Given the description of an element on the screen output the (x, y) to click on. 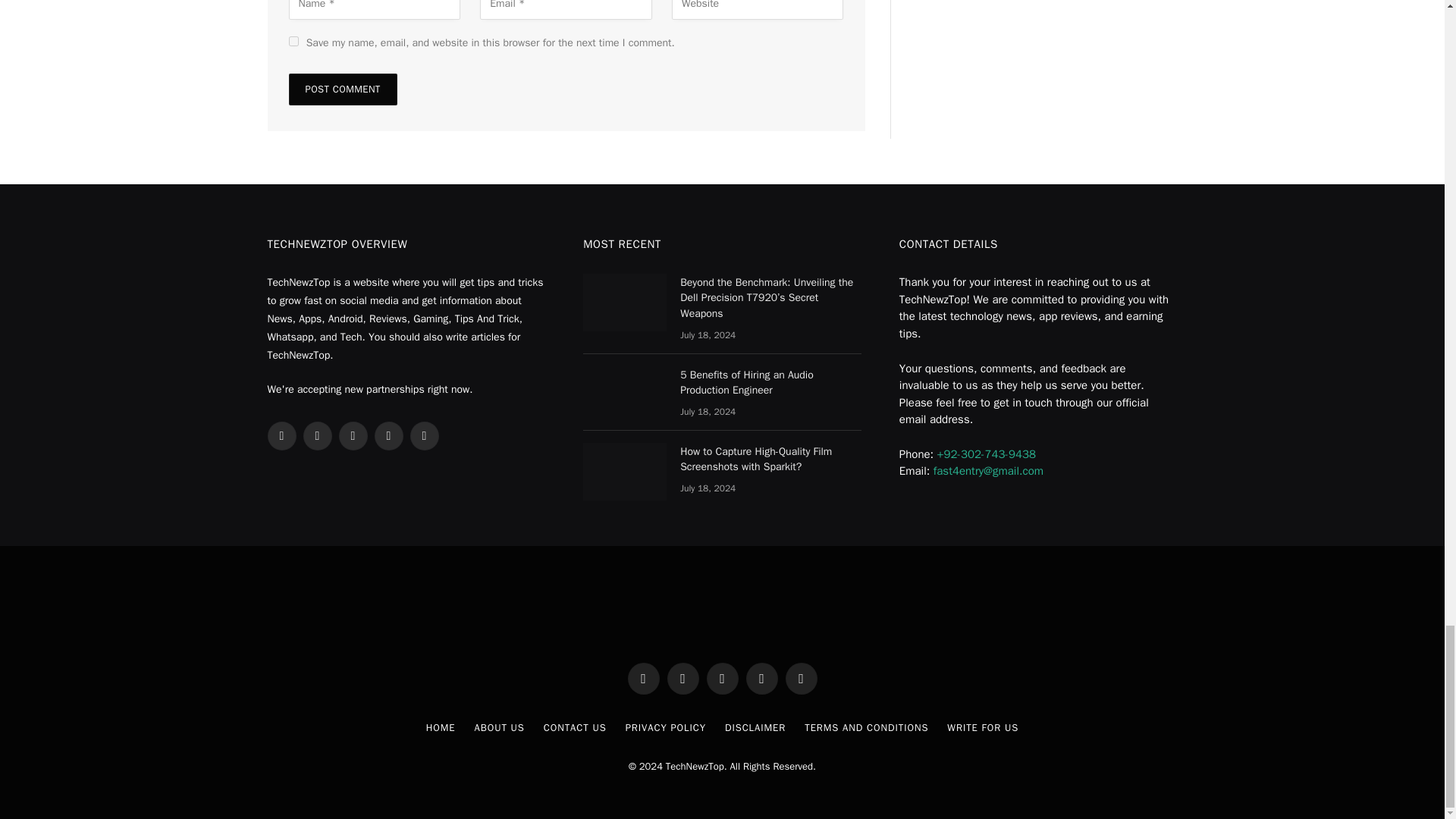
Post Comment (342, 89)
yes (293, 40)
